Given the description of an element on the screen output the (x, y) to click on. 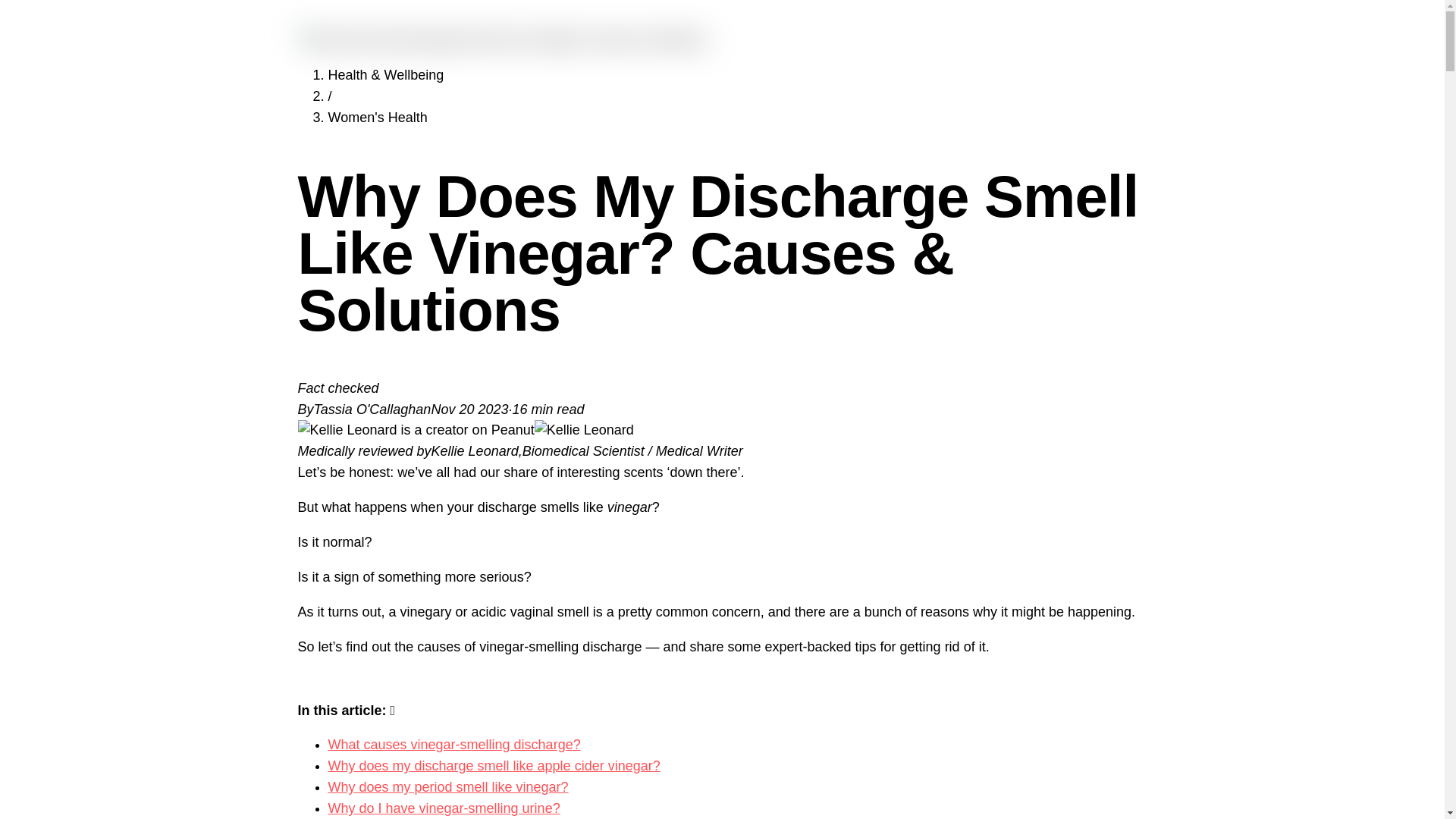
Tassia O'Callaghan (372, 409)
Kellie Leonard, (476, 450)
Women's Health (376, 117)
Medically reviewed by (363, 450)
